Given the description of an element on the screen output the (x, y) to click on. 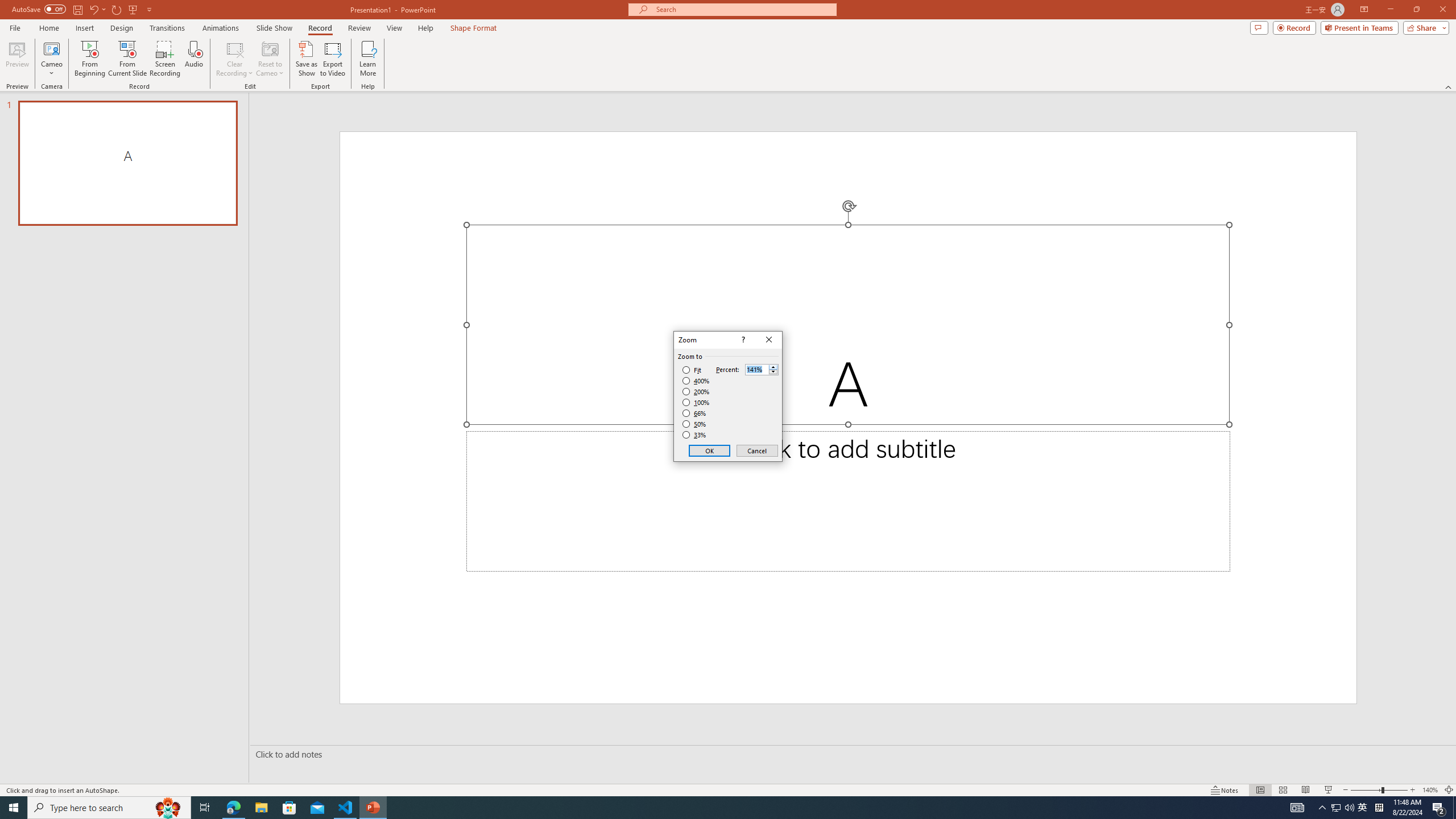
From Current Slide... (127, 58)
Percent (756, 369)
400% (696, 380)
Reset to Cameo (269, 58)
